Given the description of an element on the screen output the (x, y) to click on. 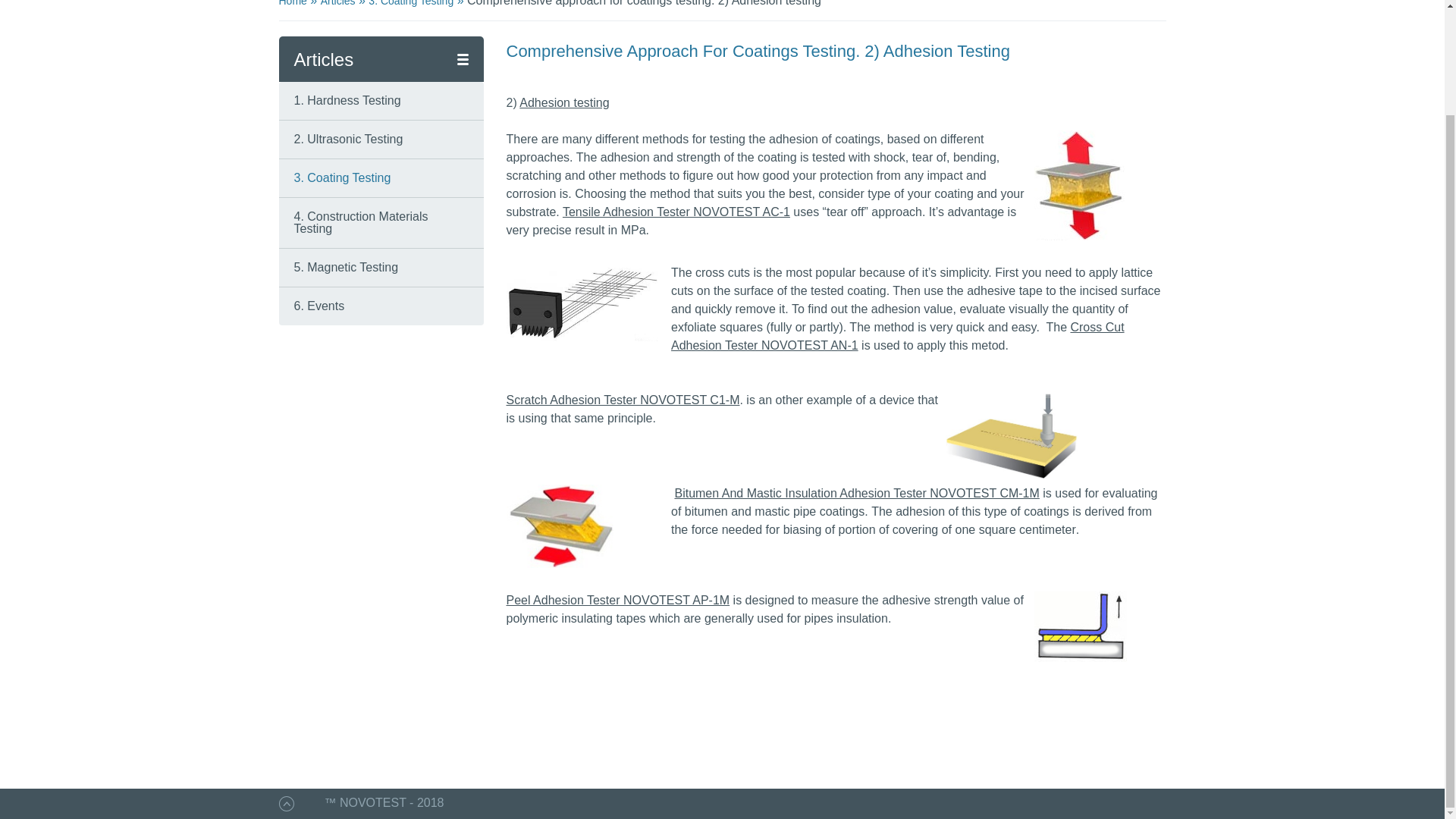
5. Magnetic Testing (346, 267)
Bitumen And Mastic Insulation Adhesion Tester NOVOTEST CM-1M (856, 492)
6. Events (319, 305)
4. Construction Materials Testing (361, 222)
Tensile Adhesion Tester NOVOTEST AC-1 (676, 211)
3. Coating Testing (410, 3)
Articles (337, 3)
Peel Adhesion Tester NOVOTEST AP-1M (618, 599)
3. Coating Testing (342, 177)
Adhesion testing (563, 102)
Cross Cut Adhesion Tester NOVOTEST AN-1 (897, 336)
Scratch Adhesion Tester NOVOTEST C1-M (622, 399)
Home (293, 3)
2. Ultrasonic Testing (348, 138)
1. Hardness Testing (347, 100)
